Given the description of an element on the screen output the (x, y) to click on. 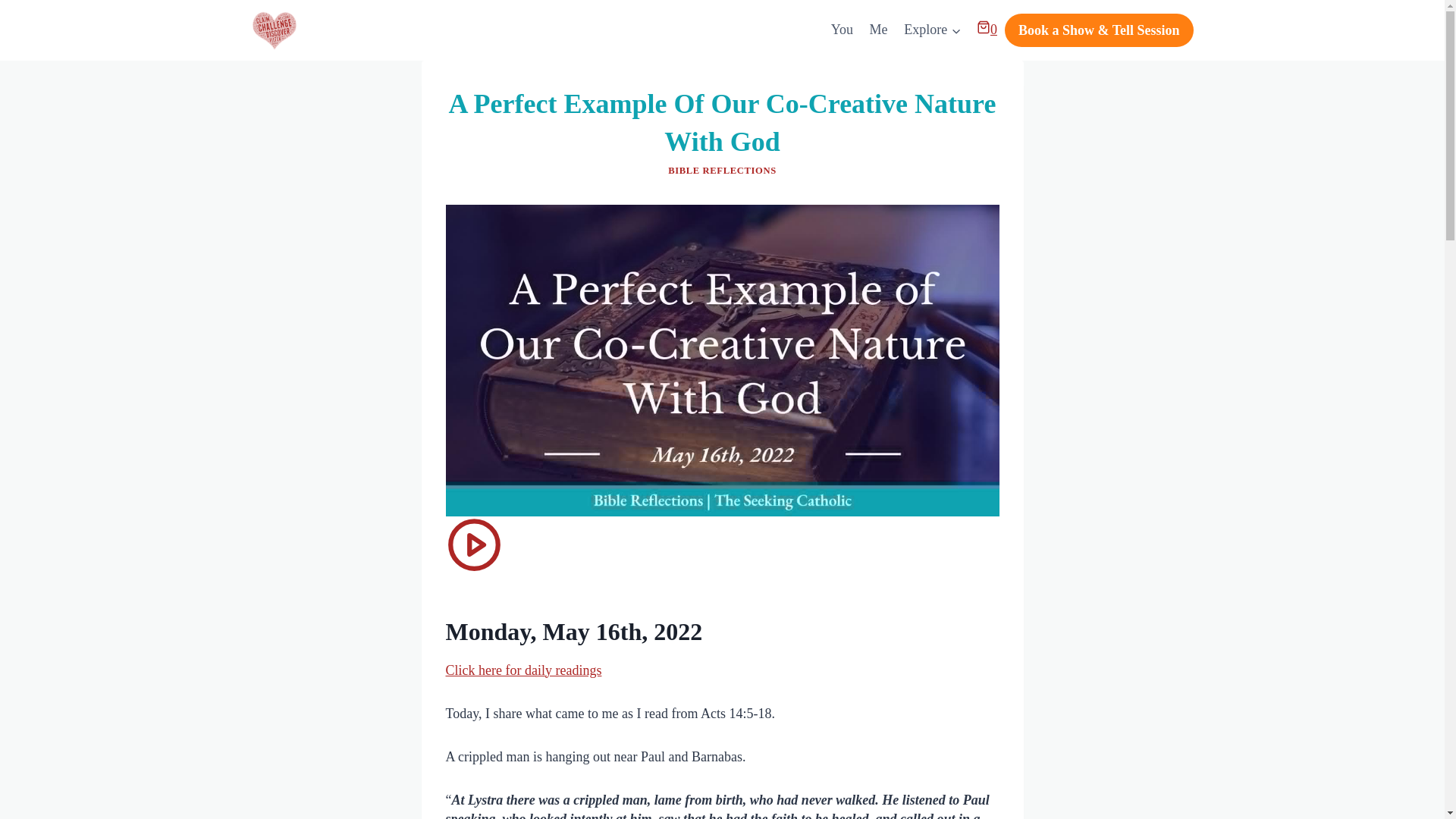
Click here for daily readings (523, 670)
BIBLE REFLECTIONS (722, 170)
You (841, 30)
Me (878, 30)
0 (986, 29)
Explore (932, 30)
